Given the description of an element on the screen output the (x, y) to click on. 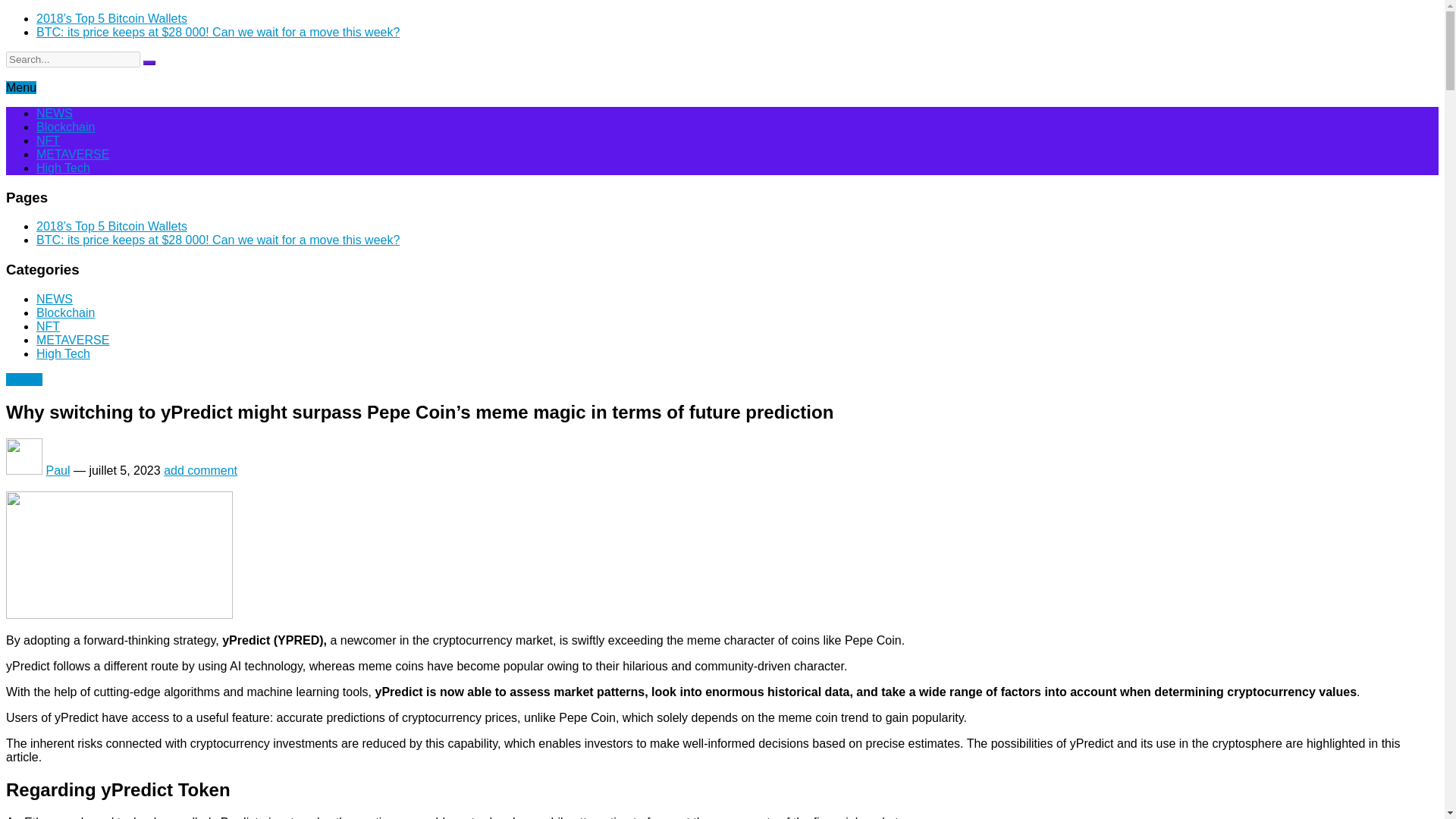
NFT (47, 326)
NEWS (23, 379)
Blockchain (65, 312)
METAVERSE (72, 339)
View all posts in NEWS (23, 379)
Paul (57, 470)
High Tech (63, 167)
Blockchain (65, 126)
add comment (200, 470)
NFT (47, 140)
